Given the description of an element on the screen output the (x, y) to click on. 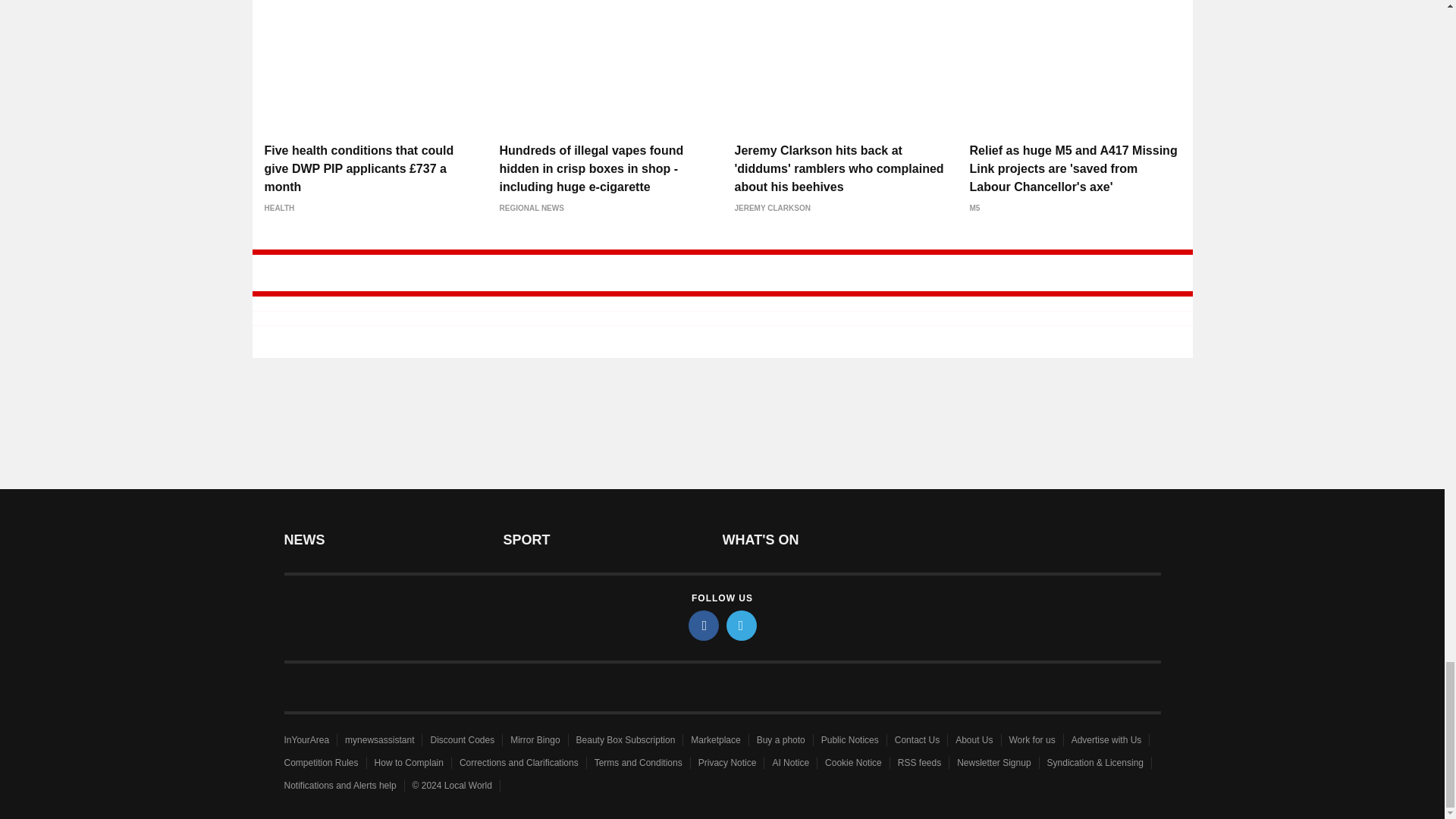
facebook (703, 625)
twitter (741, 625)
